Given the description of an element on the screen output the (x, y) to click on. 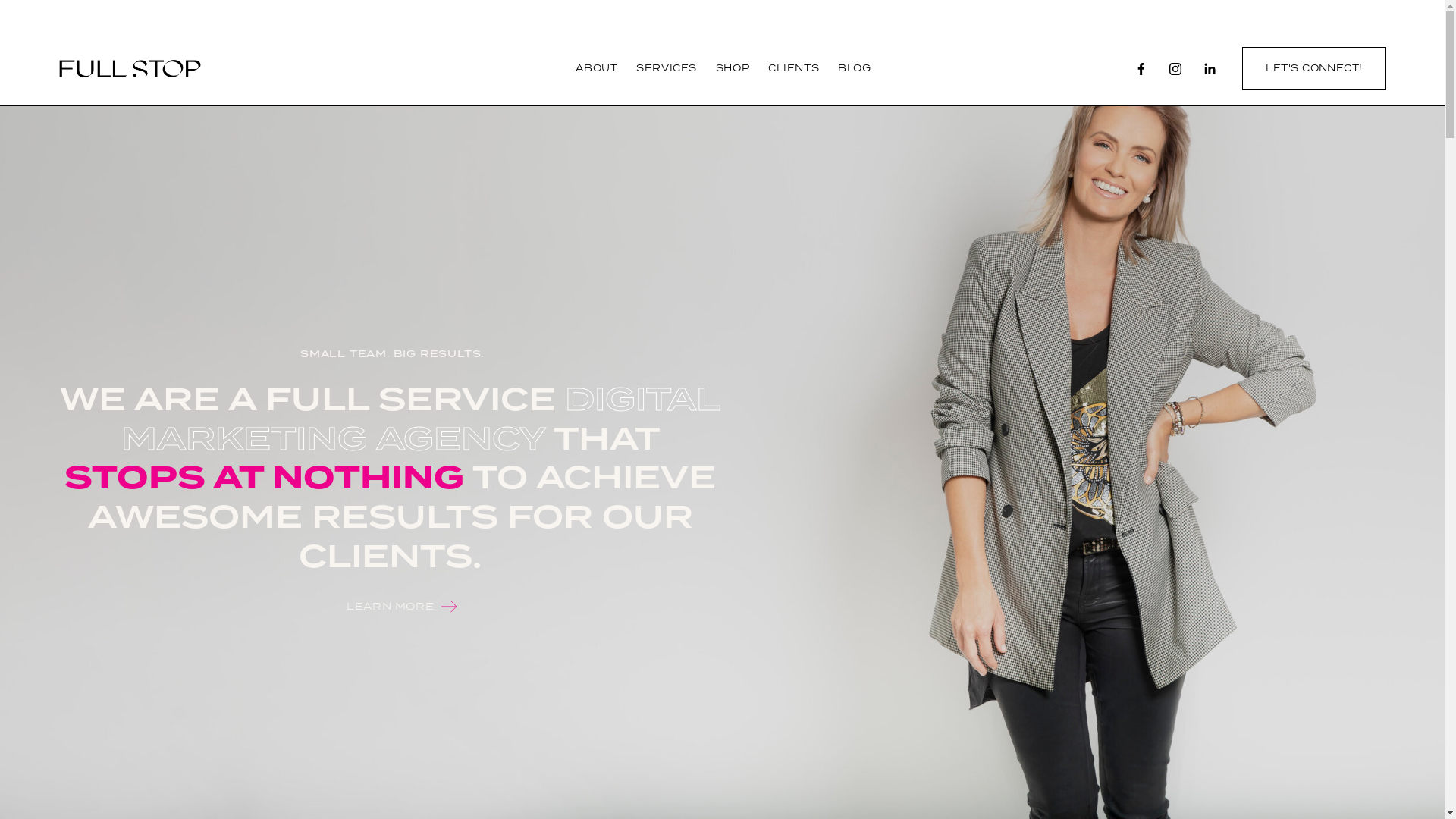
SERVICES Element type: text (666, 69)
CLIENTS Element type: text (793, 69)
SHOP Element type: text (732, 69)
BLOG Element type: text (853, 69)
LET'S CONNECT! Element type: text (1314, 68)
LEARN MORE Element type: text (389, 606)
ABOUT Element type: text (596, 69)
